Given the description of an element on the screen output the (x, y) to click on. 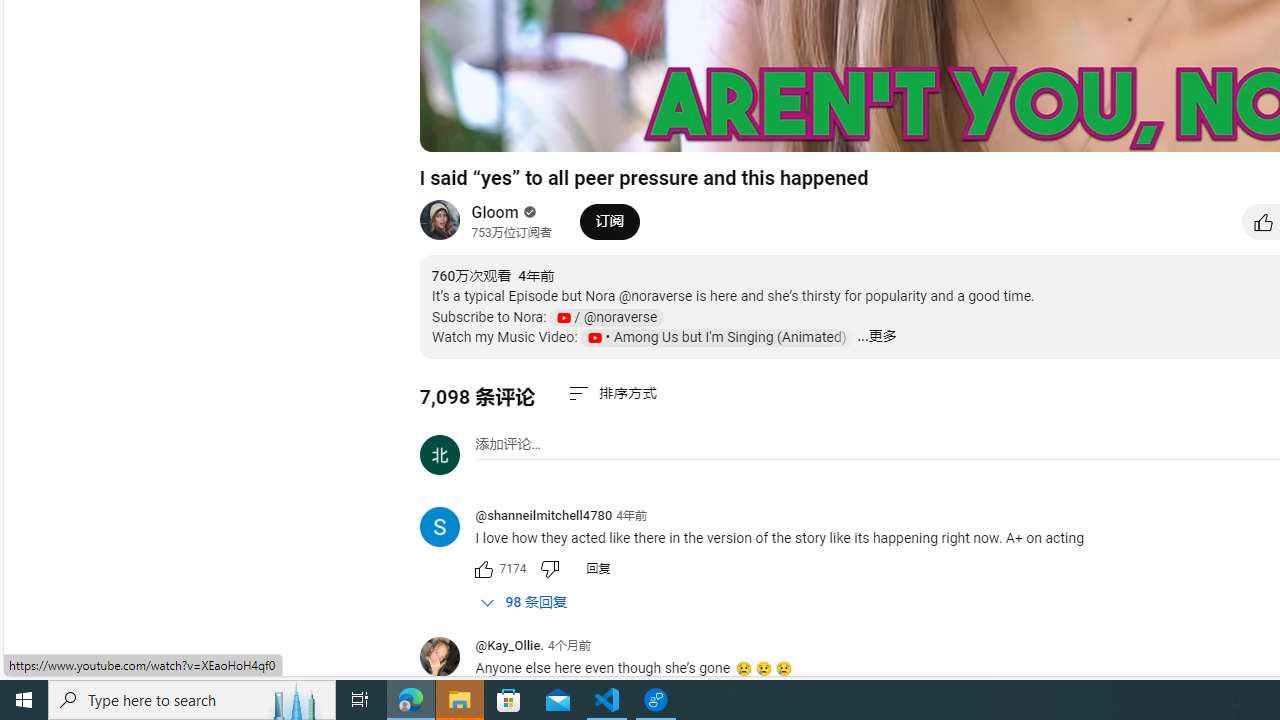
@Kay_Ollie. (509, 646)
YouTube Channel Link: Among Us but I'm Singing (Animated) (716, 337)
@shanneilmitchell4780 (447, 528)
YouTube Channel Link: @noraverse (606, 317)
